Given the description of an element on the screen output the (x, y) to click on. 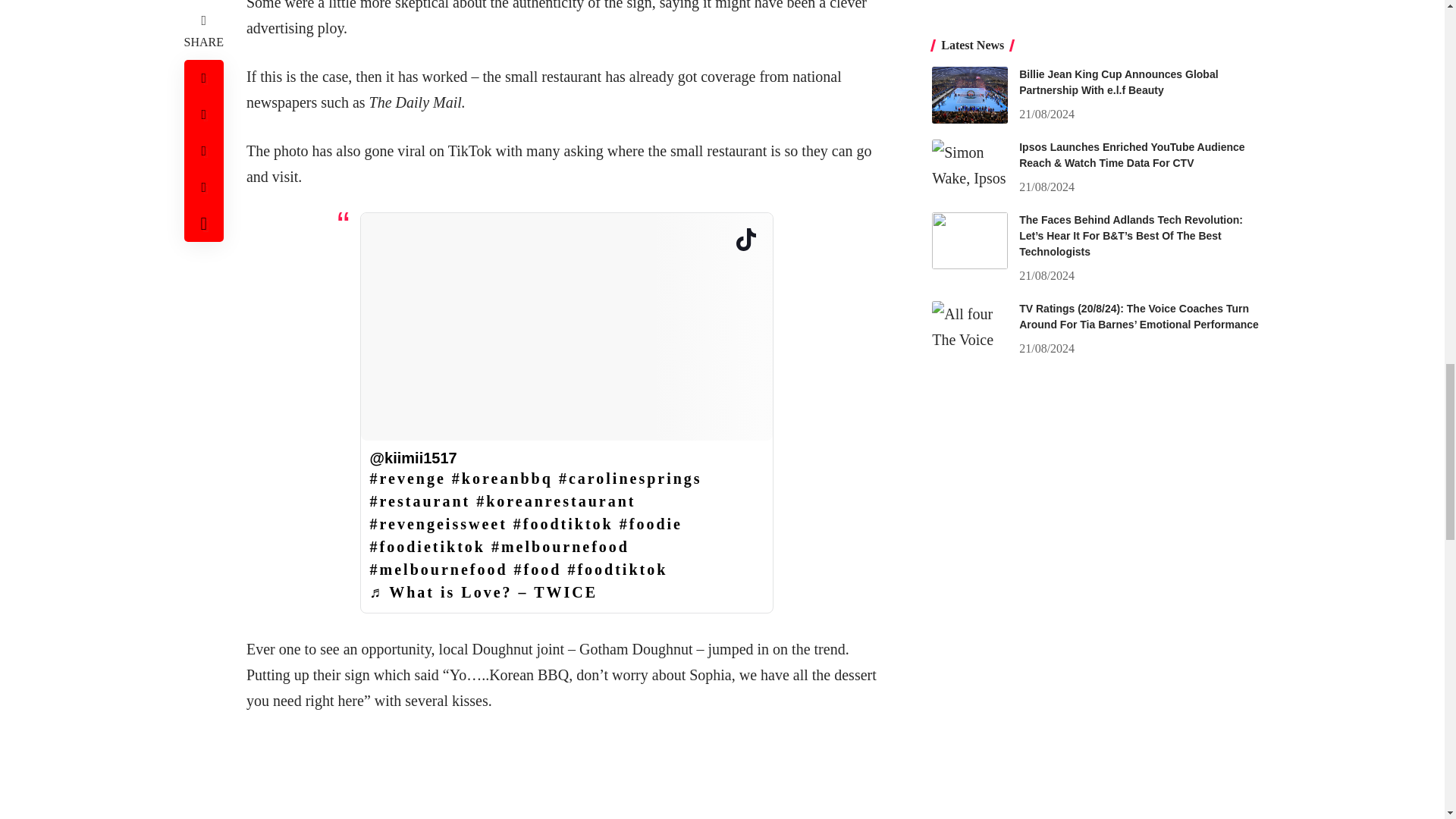
revenge (407, 478)
melbournefood (560, 546)
foodietiktok (426, 546)
restaurant (419, 501)
foodtiktok (562, 523)
koreanbbq (502, 478)
revengeissweet (437, 523)
carolinesprings (630, 478)
foodie (651, 523)
koreanrestaurant (555, 501)
